Given the description of an element on the screen output the (x, y) to click on. 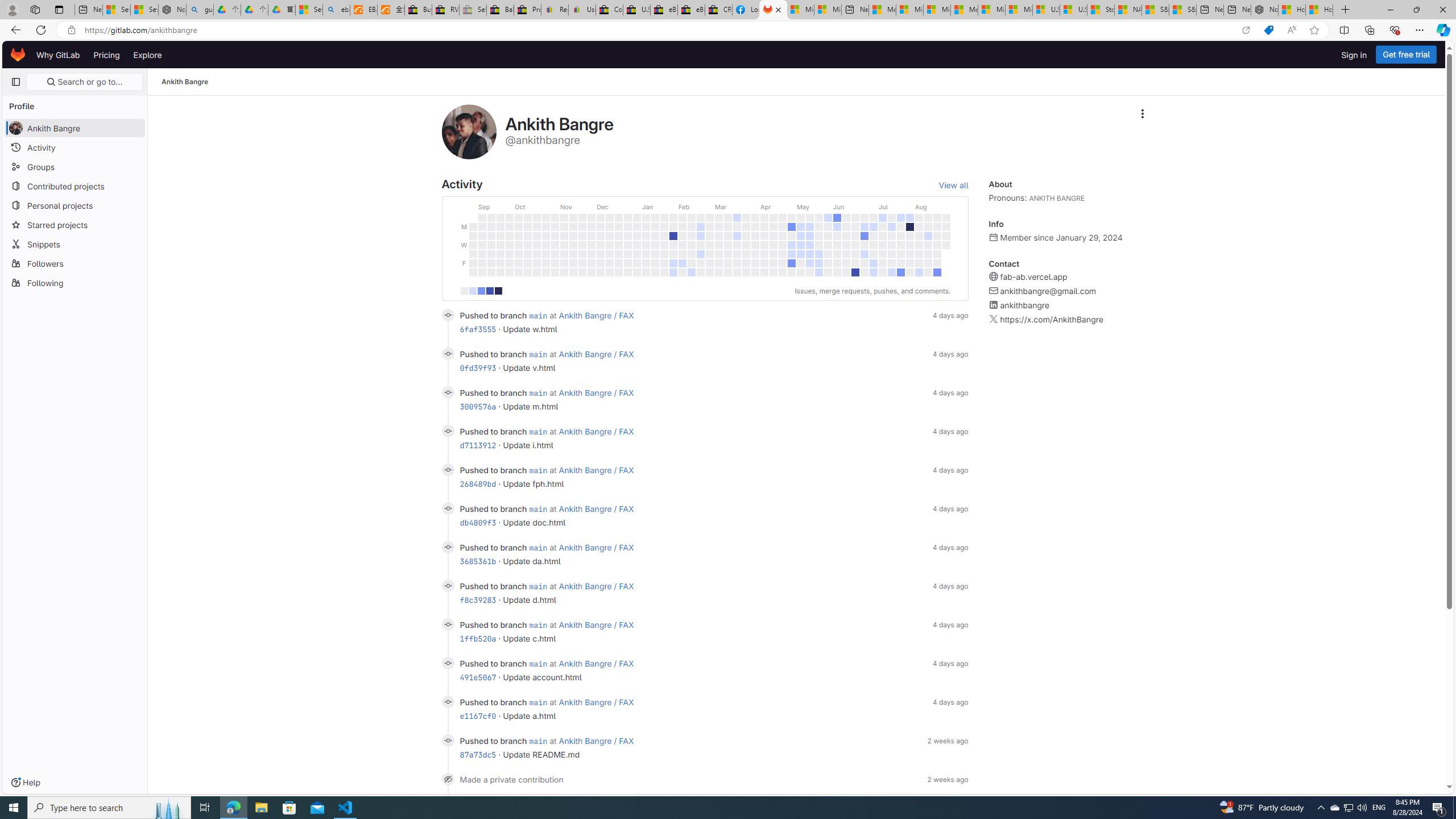
Following (74, 282)
Split screen (1344, 29)
ankithbangre@gmail.com (1048, 291)
Explore (146, 54)
